Given the description of an element on the screen output the (x, y) to click on. 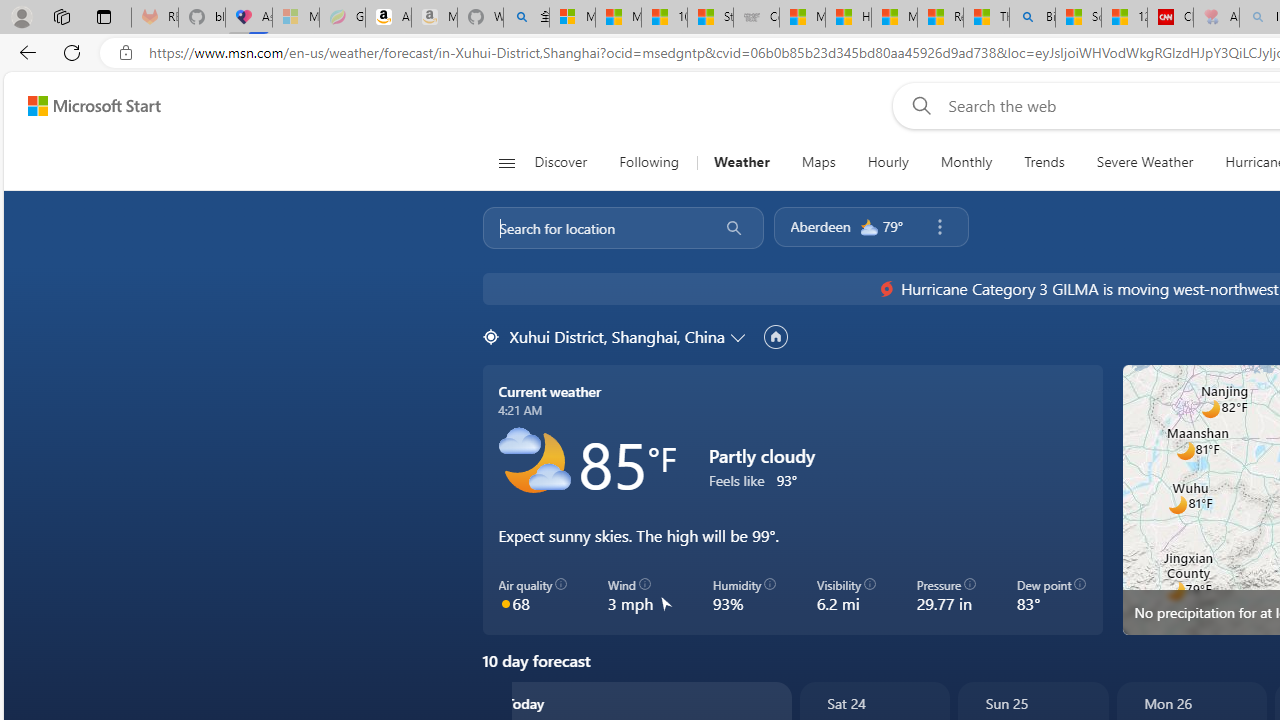
Details (65, 531)
Monthly (966, 162)
Visibility 6.2 mi (845, 595)
Severe Weather (1144, 162)
Search for location (594, 227)
Seeing different weather? (969, 398)
Aberdeen (820, 226)
Air quality 68 (532, 595)
Class: aqiColorCycle-DS-EntryPoint1-1 (505, 602)
